Given the description of an element on the screen output the (x, y) to click on. 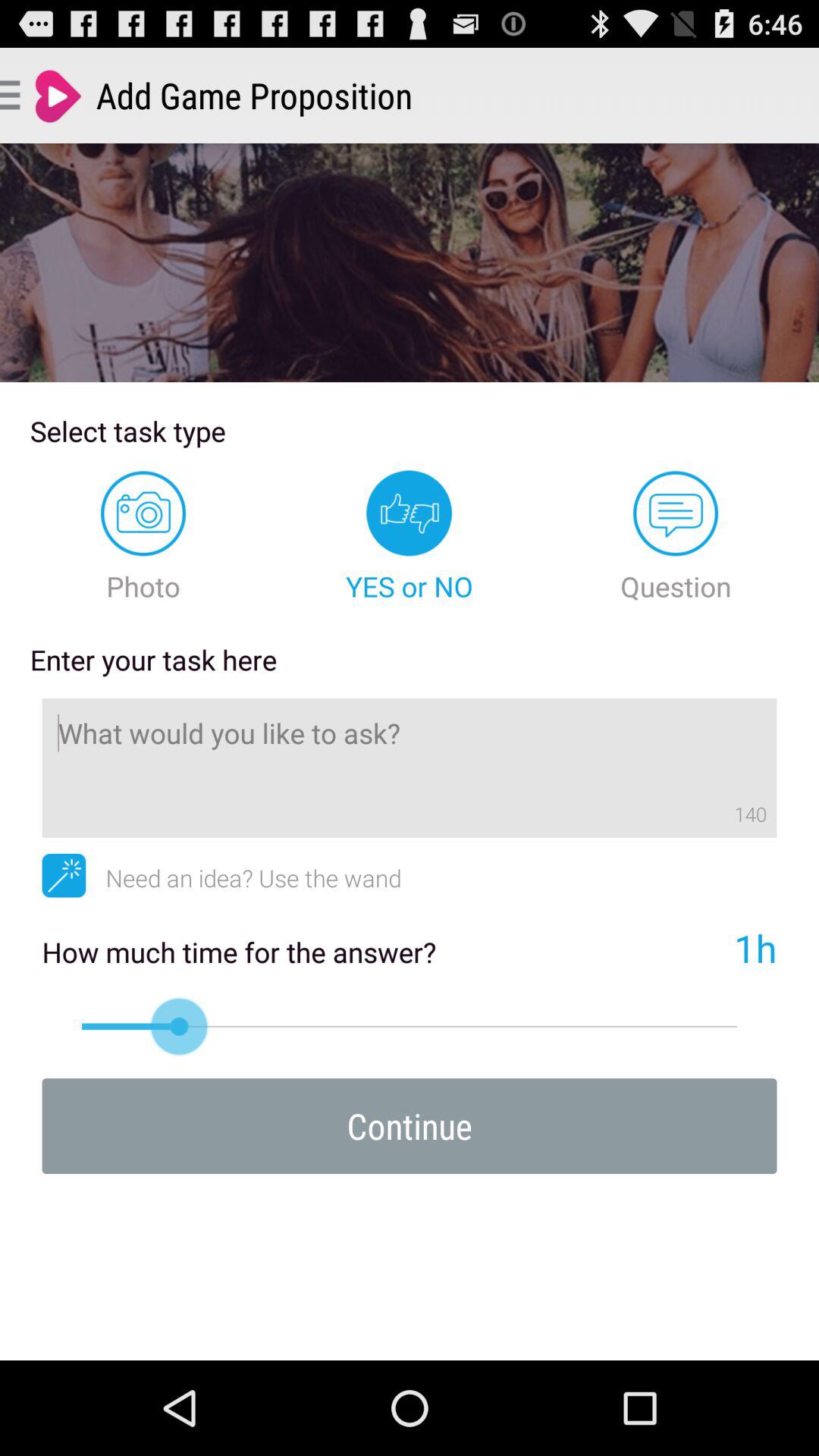
turn on the item to the left of the yes or no icon (143, 537)
